Given the description of an element on the screen output the (x, y) to click on. 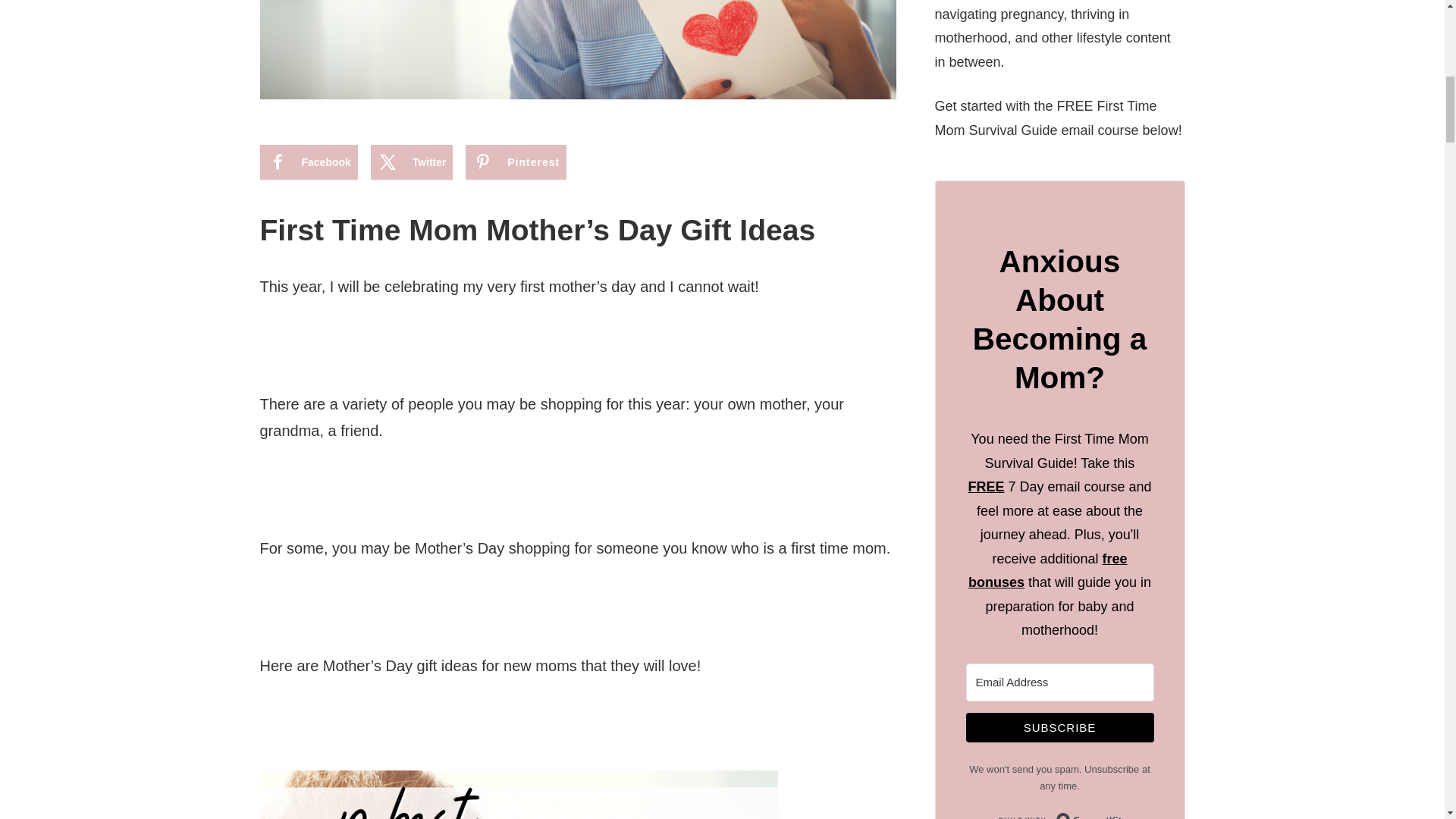
Share on Facebook (307, 161)
Pinterest (515, 161)
Share on X (411, 161)
Facebook (307, 161)
Save to Pinterest (515, 161)
Twitter (411, 161)
